Given the description of an element on the screen output the (x, y) to click on. 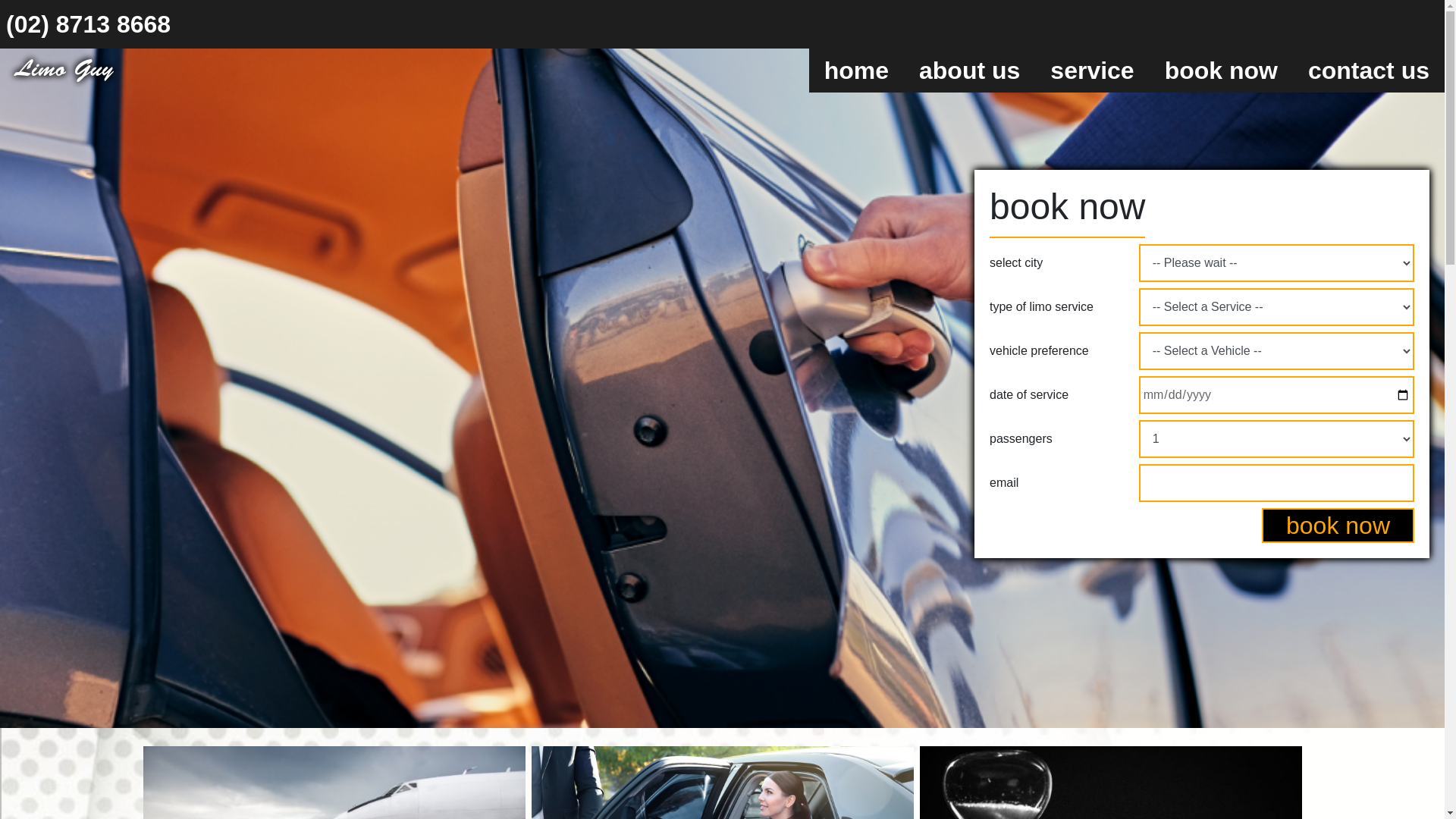
(02) 8713 8668 Element type: text (88, 23)
book now Element type: text (1337, 525)
contact us Element type: text (1368, 70)
book now Element type: text (1220, 70)
home Element type: text (856, 70)
about us Element type: text (969, 70)
service Element type: text (1091, 70)
